Given the description of an element on the screen output the (x, y) to click on. 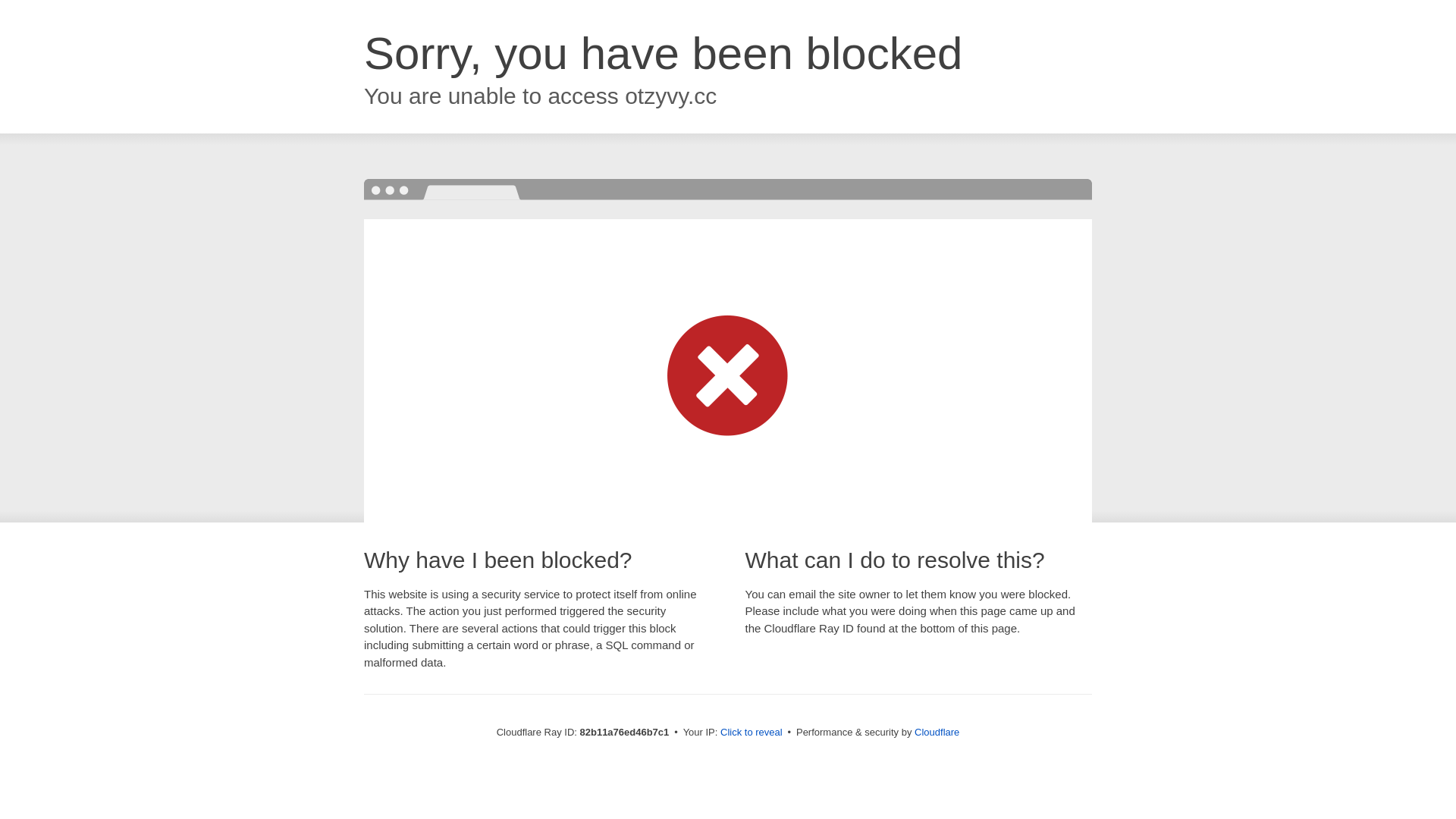
Cloudflare Element type: text (936, 731)
Click to reveal Element type: text (751, 732)
